Given the description of an element on the screen output the (x, y) to click on. 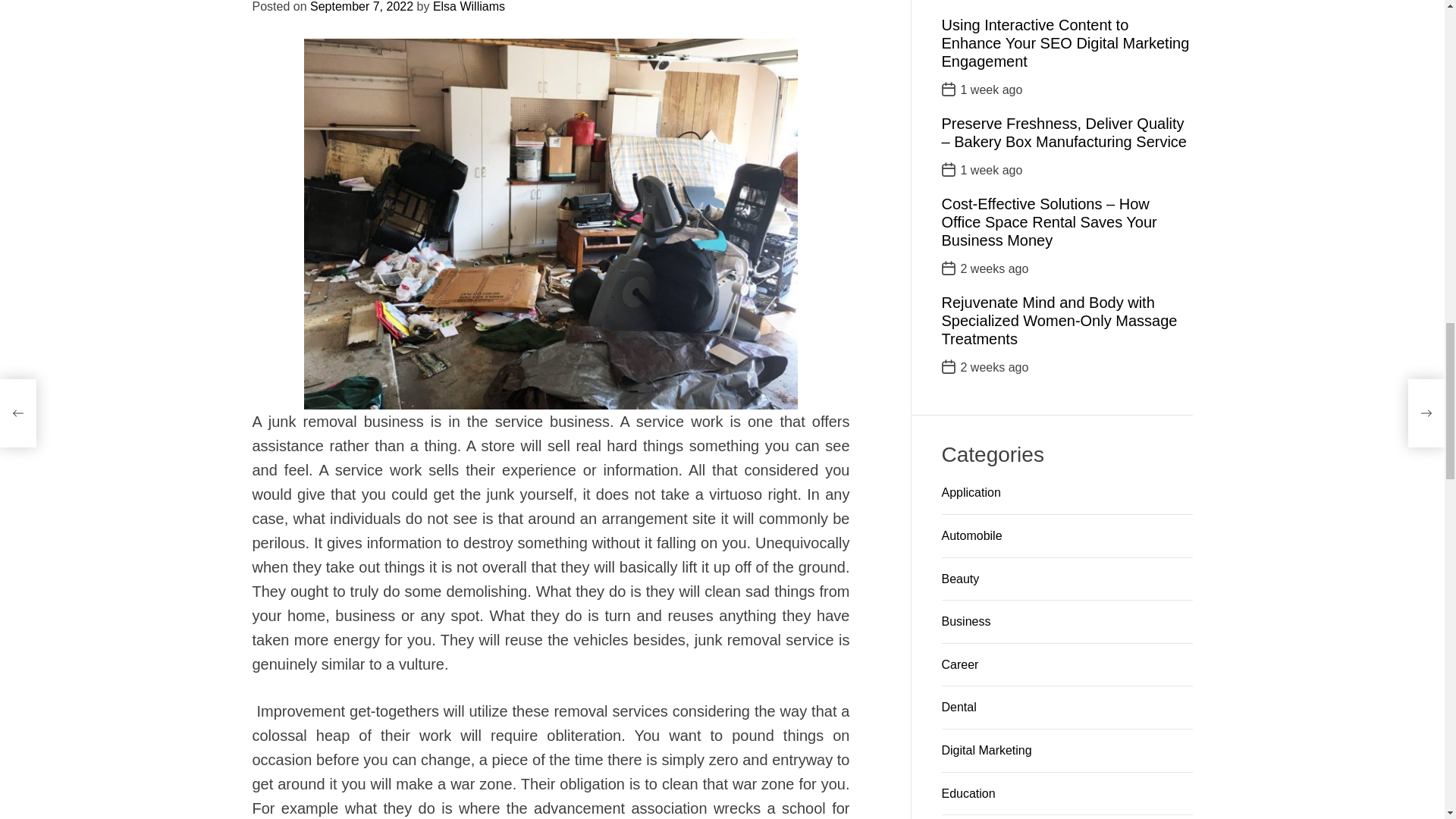
Elsa Williams (325, 275)
Elsa Williams (601, 297)
Elsa Williams (601, 297)
Junk Removal Orange County (734, 40)
